Given the description of an element on the screen output the (x, y) to click on. 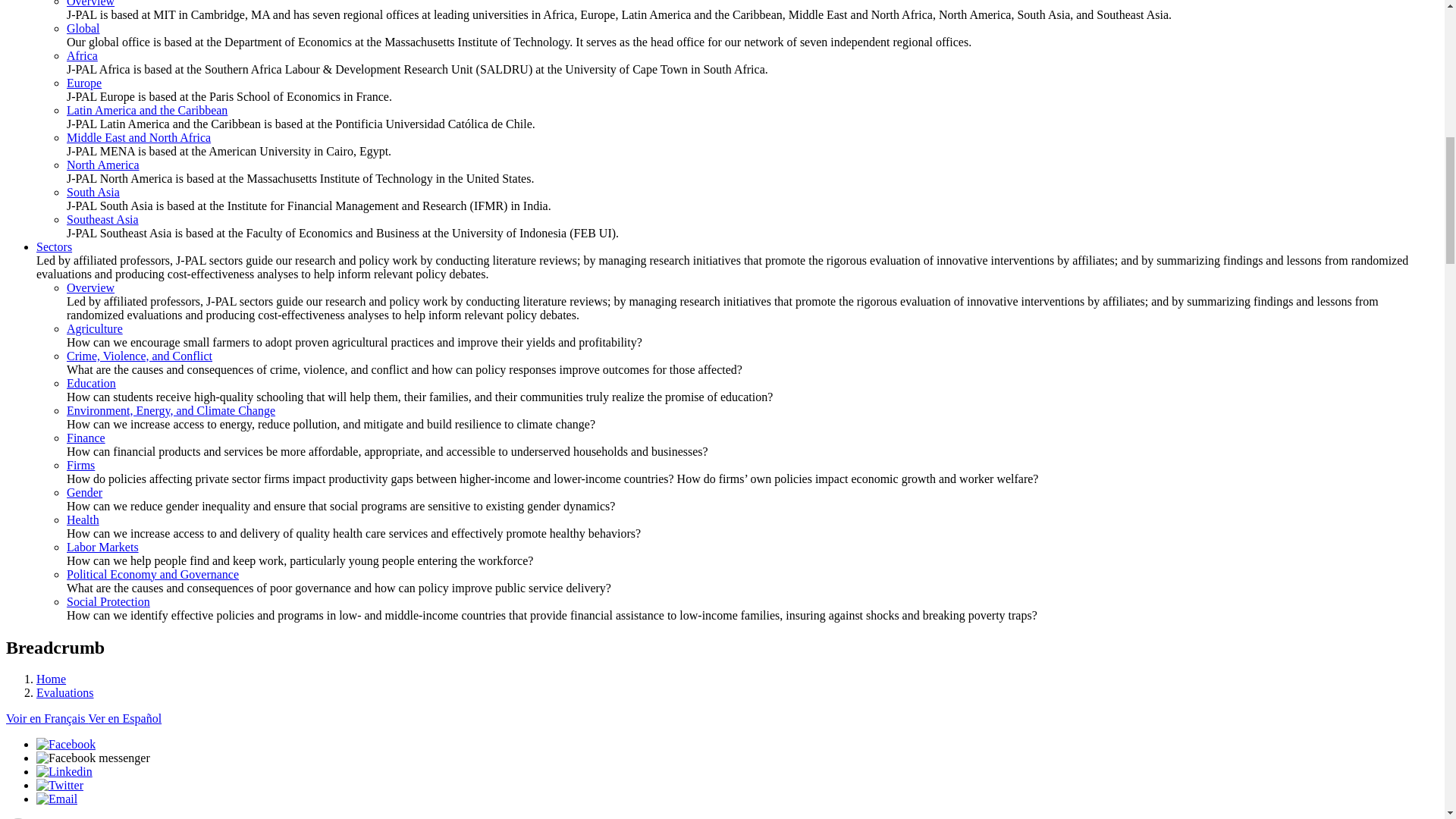
Linkedin (64, 771)
Twitter (59, 784)
Facebook (66, 744)
Facebook messenger (92, 757)
Email (56, 798)
